Given the description of an element on the screen output the (x, y) to click on. 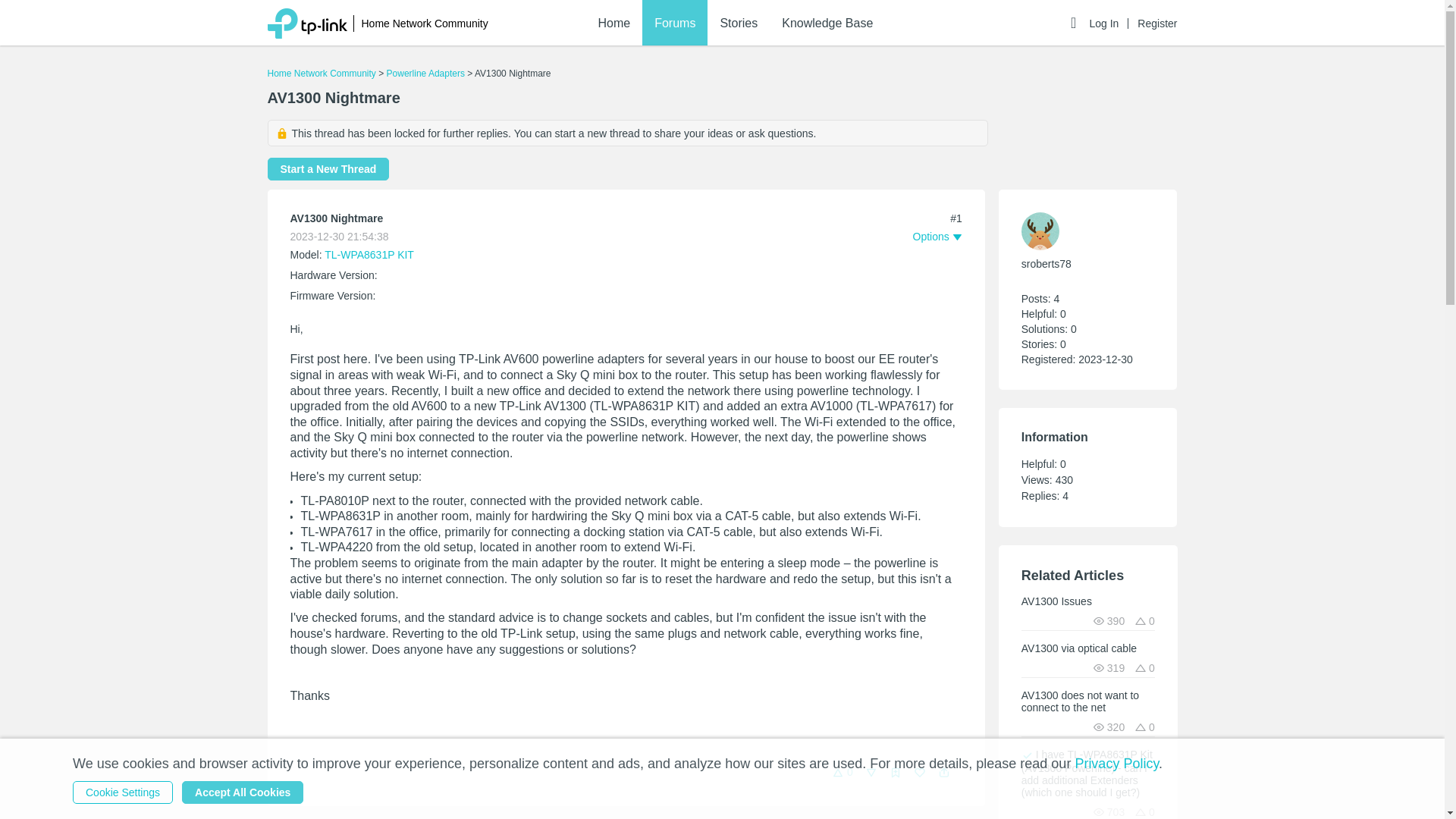
Home Network Community (320, 72)
Home (613, 23)
Powerline Adapters (425, 72)
Home Network Community (424, 23)
Log In (1108, 23)
TL-WPA8631P KIT (368, 254)
Knowledge Base (826, 23)
Start a New Thread (327, 169)
Register (1156, 23)
Start a New Thread (327, 168)
Stories (738, 23)
sroberts78 (1046, 263)
